Given the description of an element on the screen output the (x, y) to click on. 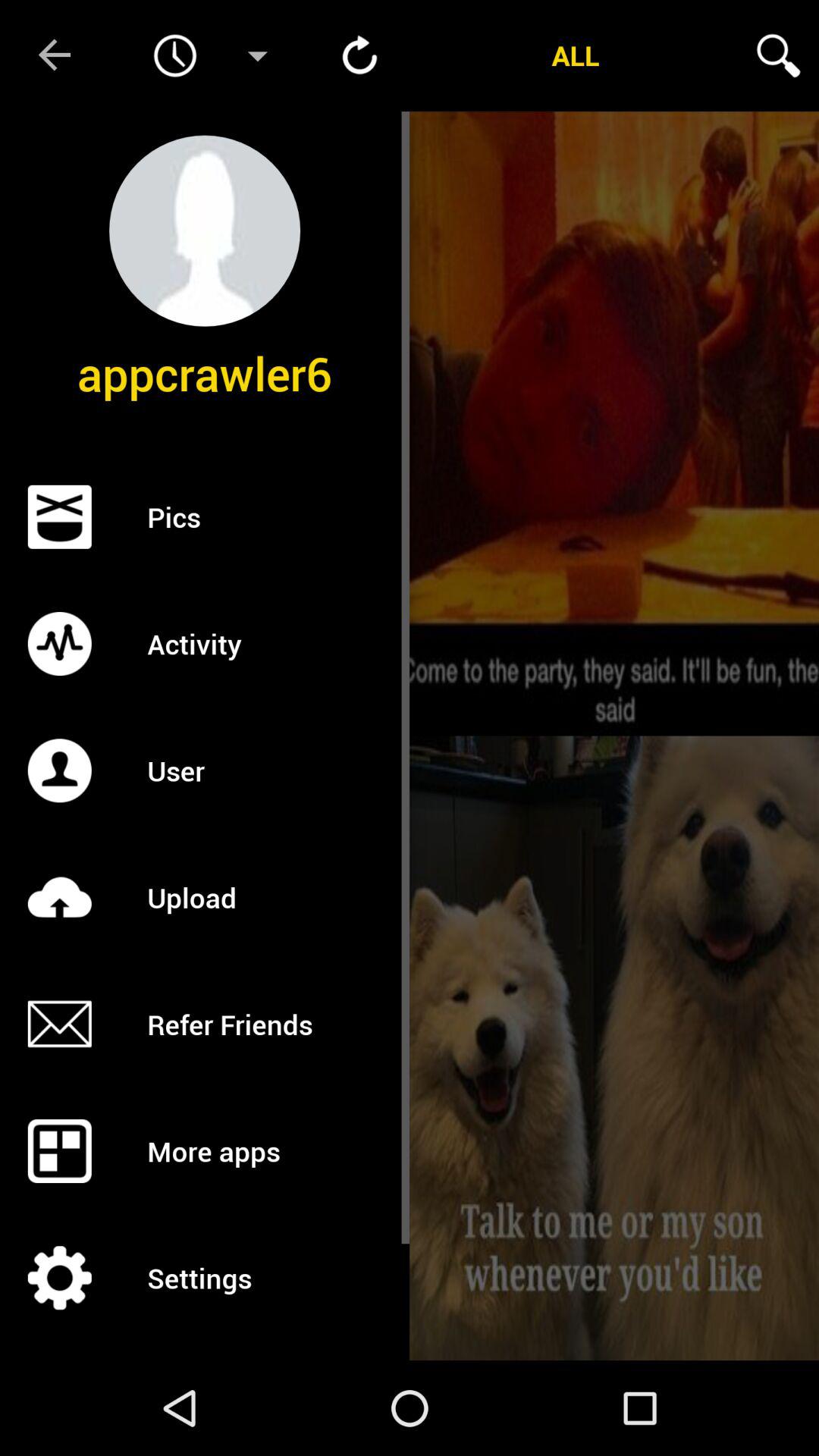
refresh page (359, 55)
